Given the description of an element on the screen output the (x, y) to click on. 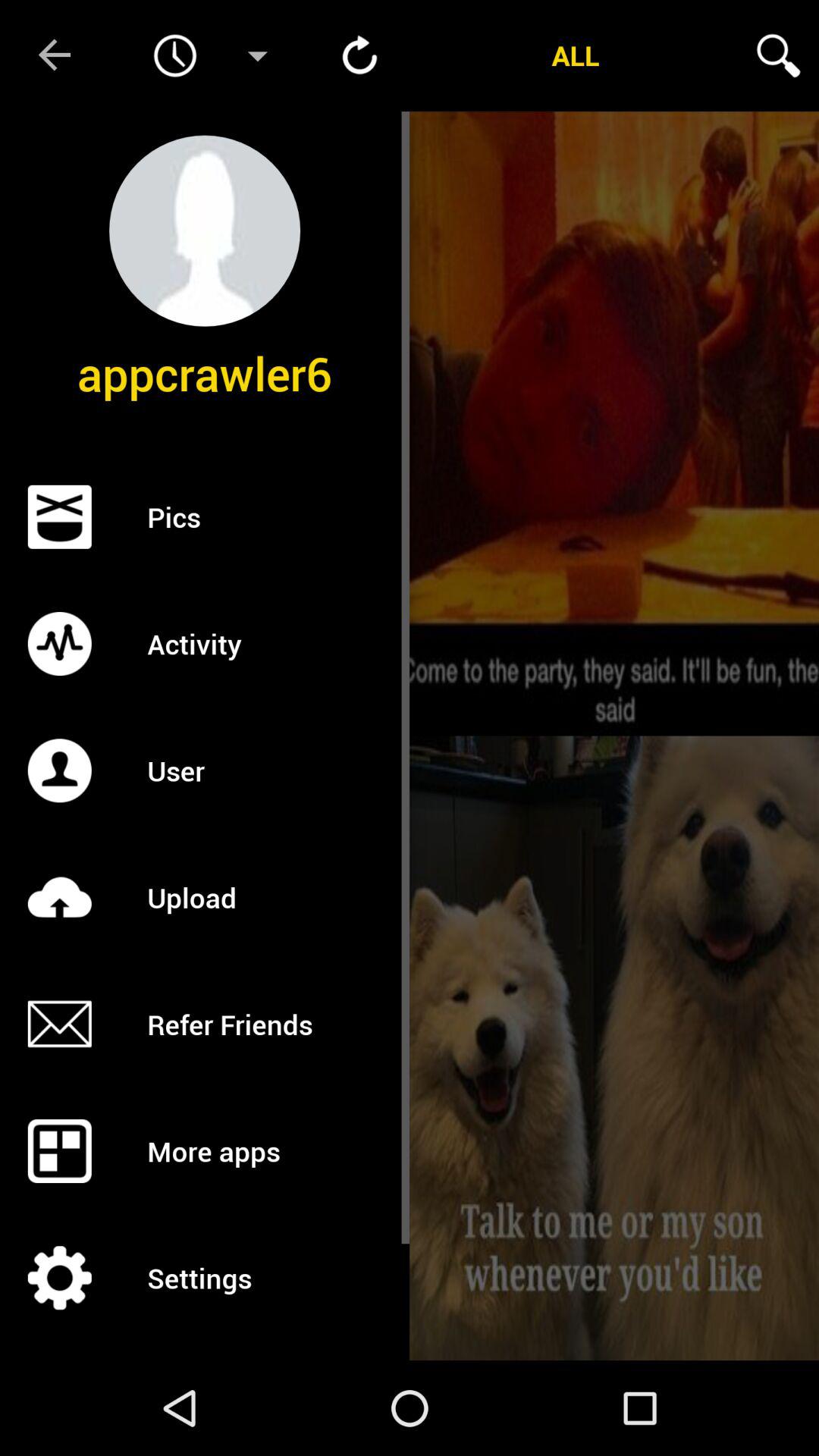
refresh page (359, 55)
